Given the description of an element on the screen output the (x, y) to click on. 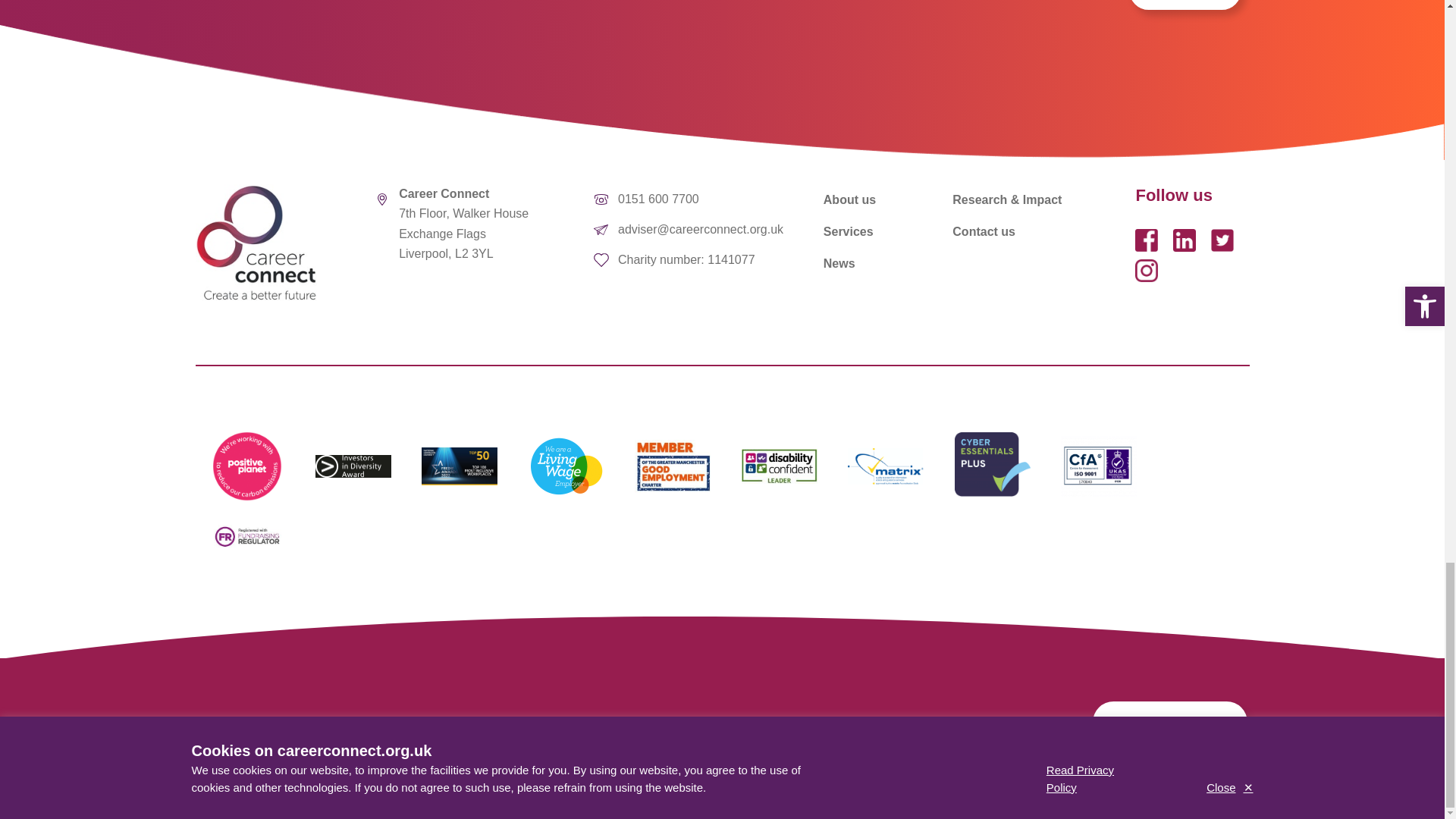
Submit (1185, 4)
